Given the description of an element on the screen output the (x, y) to click on. 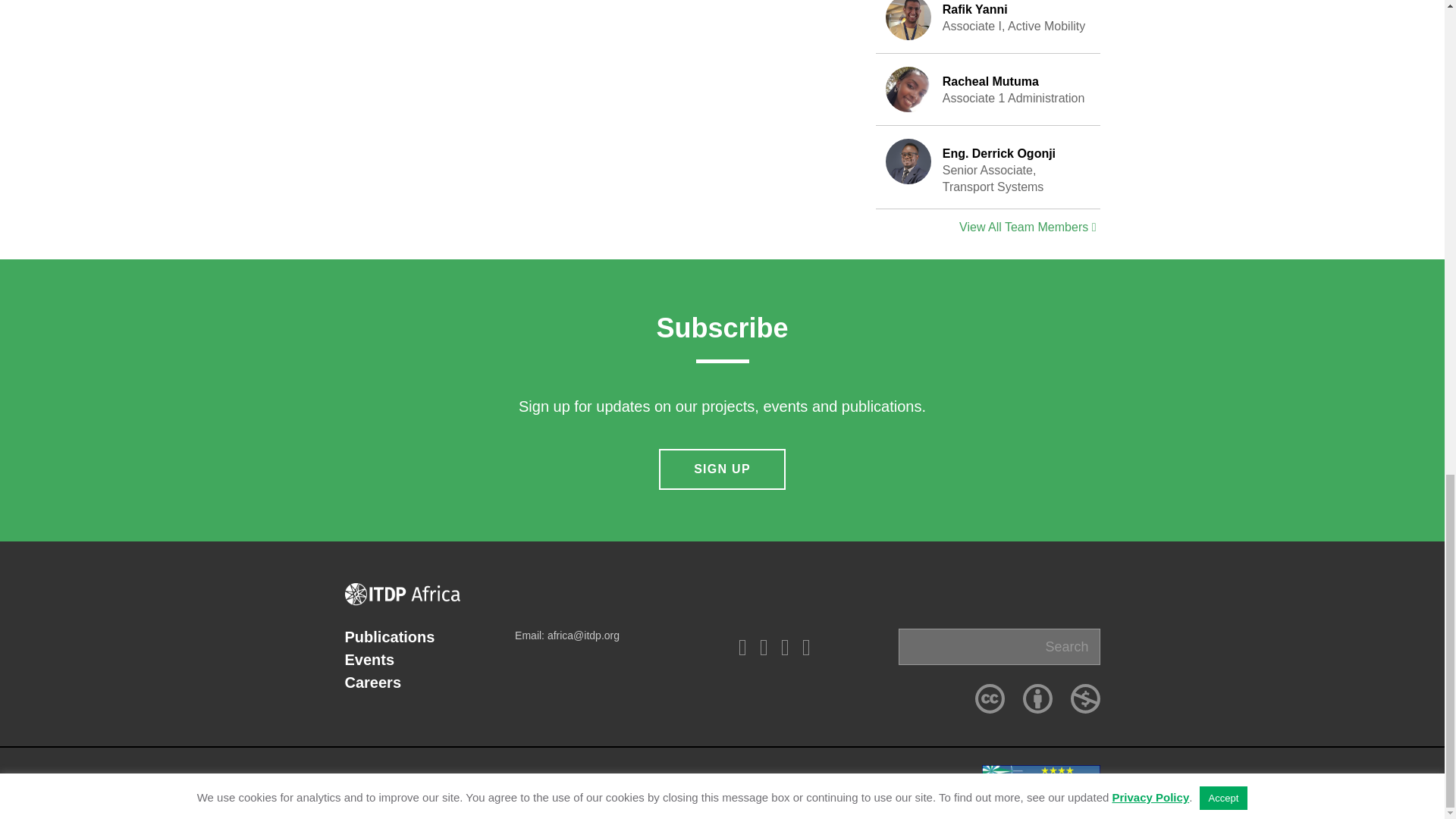
cc (989, 698)
man (1037, 698)
Rafik (908, 20)
Racheal Mutuma (988, 26)
Eng. Derrick Ogonji (908, 89)
